Given the description of an element on the screen output the (x, y) to click on. 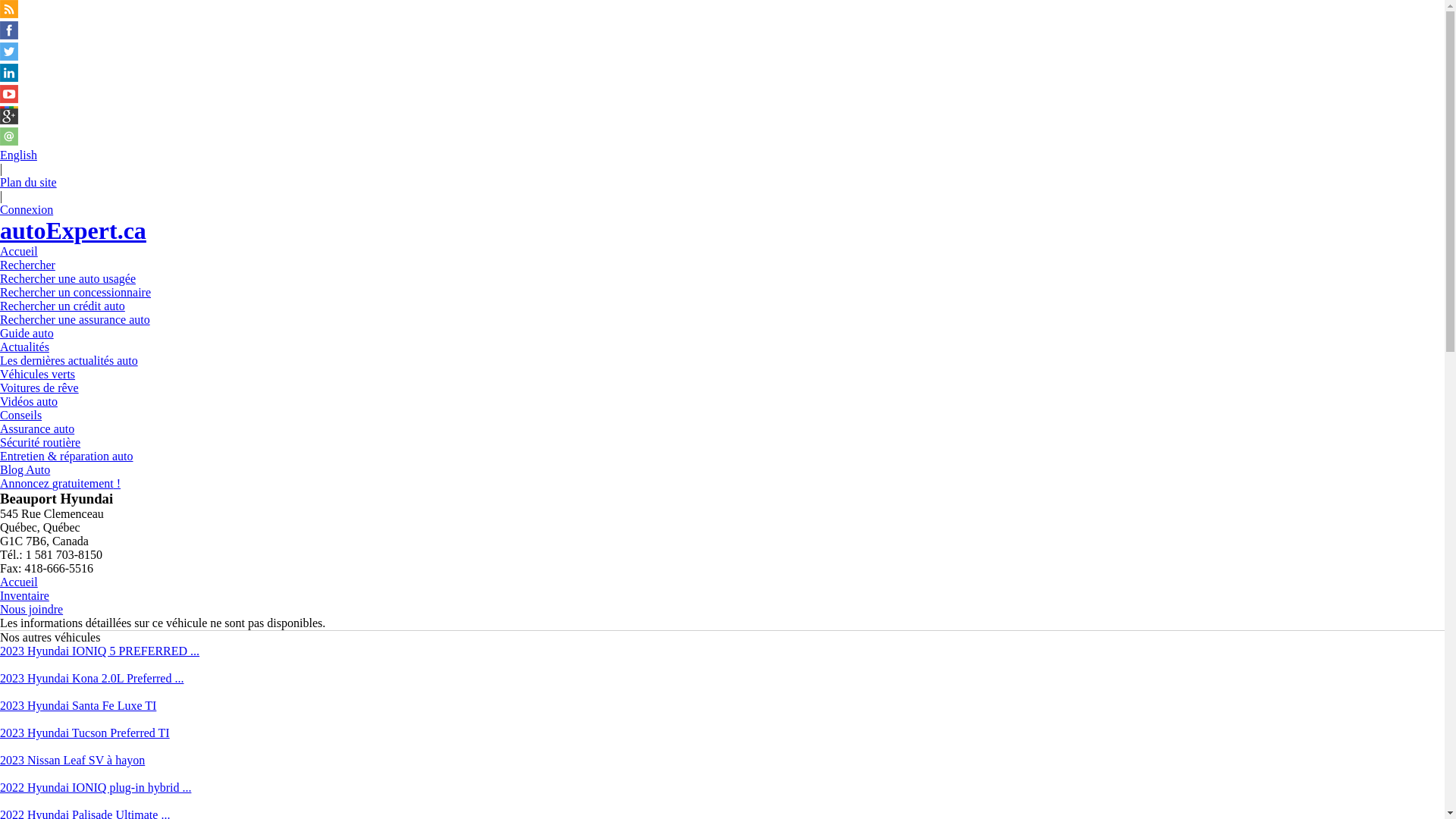
Accueil Element type: text (18, 250)
Blog Auto Element type: text (25, 469)
Assurance auto Element type: text (37, 428)
2023 Hyundai Tucson Preferred TI Element type: text (84, 732)
Connexion Element type: text (26, 209)
Suivez autoExpert.ca sur Google Plus Element type: hover (9, 119)
Rechercher un concessionnaire Element type: text (75, 291)
Guide auto Element type: text (26, 332)
2022 Hyundai IONIQ plug-in hybrid ... Element type: text (95, 787)
Joindre autoExpert.ca Element type: hover (9, 140)
Suivez autoExpert.ca sur Facebook Element type: hover (9, 34)
2023 Hyundai Kona 2.0L Preferred ... Element type: text (91, 677)
Suivez autoExpert.ca sur Youtube Element type: hover (9, 98)
autoExpert.ca Element type: text (73, 230)
Accueil Element type: text (18, 581)
Conseils Element type: text (20, 414)
Plan du site Element type: text (28, 181)
2023 Hyundai IONIQ 5 PREFERRED ... Element type: text (99, 650)
Suivez autoExpert.ca sur Twitter Element type: hover (9, 56)
Inventaire Element type: text (24, 595)
Suivez Publications Le Guide Inc. sur LinkedIn Element type: hover (9, 77)
Nous joindre Element type: text (31, 608)
2023 Hyundai Santa Fe Luxe TI Element type: text (78, 705)
Rechercher Element type: text (27, 264)
Annoncez gratuitement ! Element type: text (60, 482)
Rechercher une assurance auto Element type: text (75, 319)
English Element type: text (18, 154)
